Given the description of an element on the screen output the (x, y) to click on. 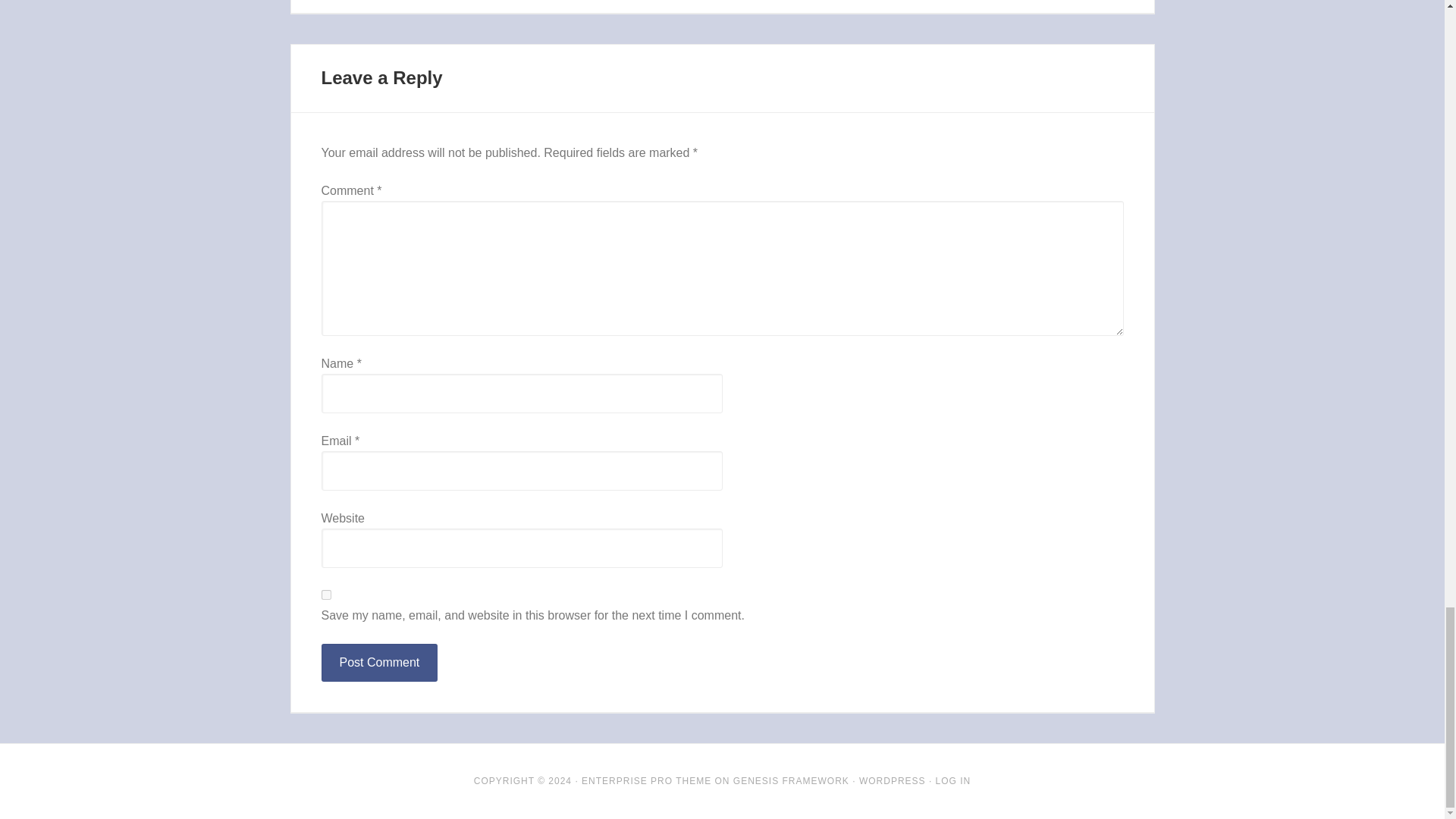
LOG IN (953, 780)
yes (326, 594)
GENESIS FRAMEWORK (790, 780)
Post Comment (379, 662)
WORDPRESS (892, 780)
ENTERPRISE PRO THEME (645, 780)
Post Comment (379, 662)
